Given the description of an element on the screen output the (x, y) to click on. 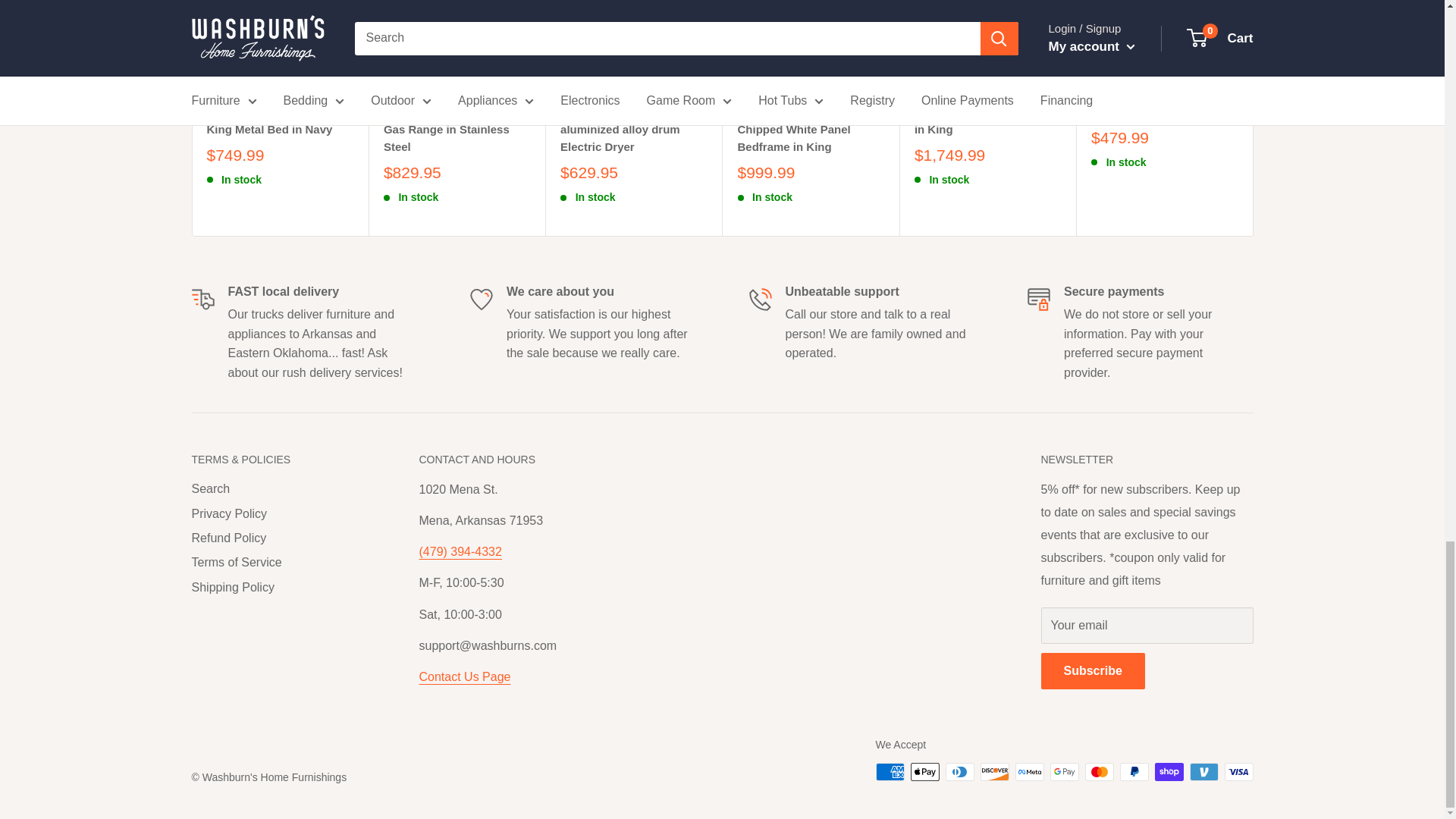
Contact US (465, 676)
